Given the description of an element on the screen output the (x, y) to click on. 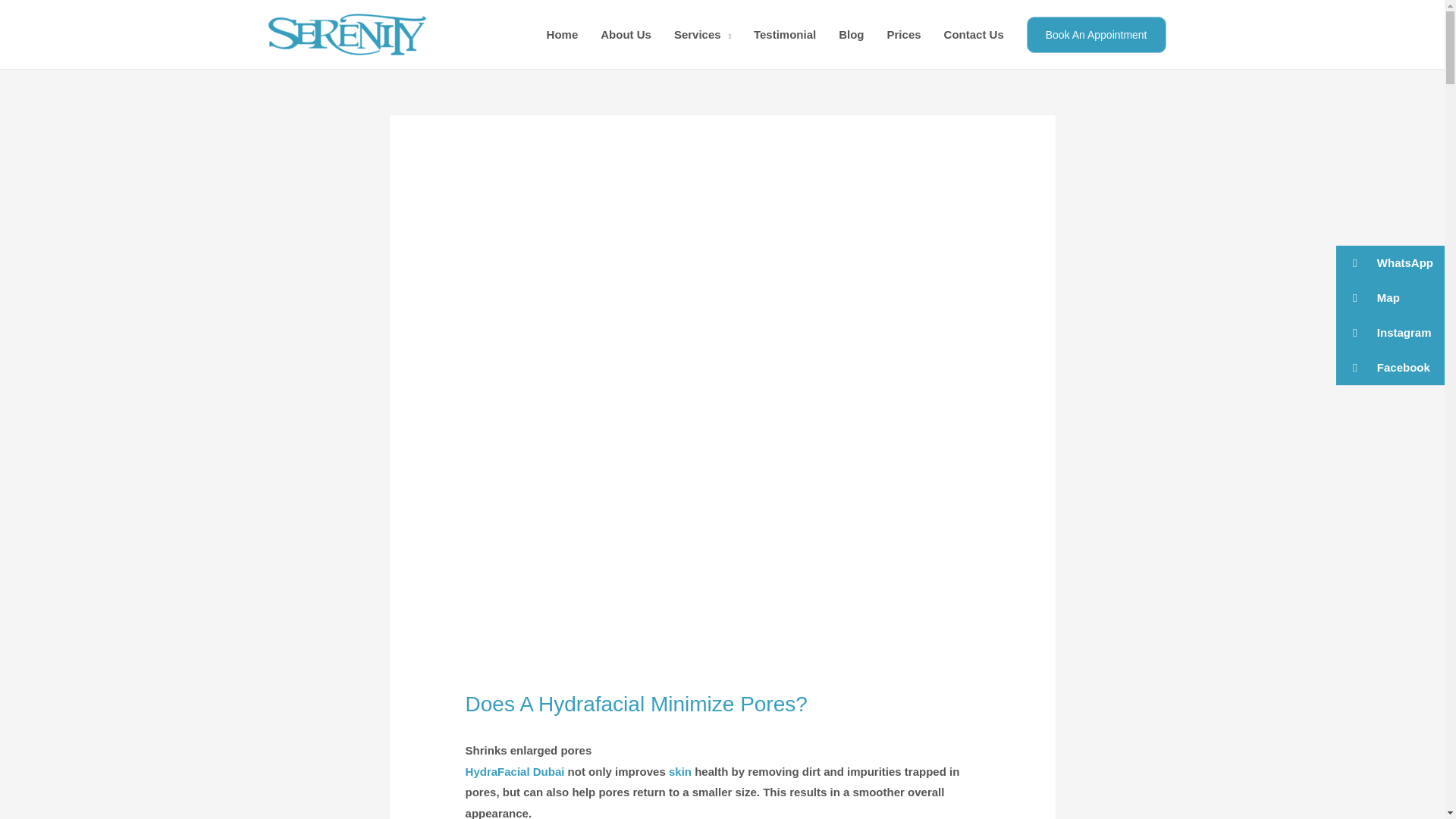
About Us (625, 34)
Services (702, 34)
Home (562, 34)
